Given the description of an element on the screen output the (x, y) to click on. 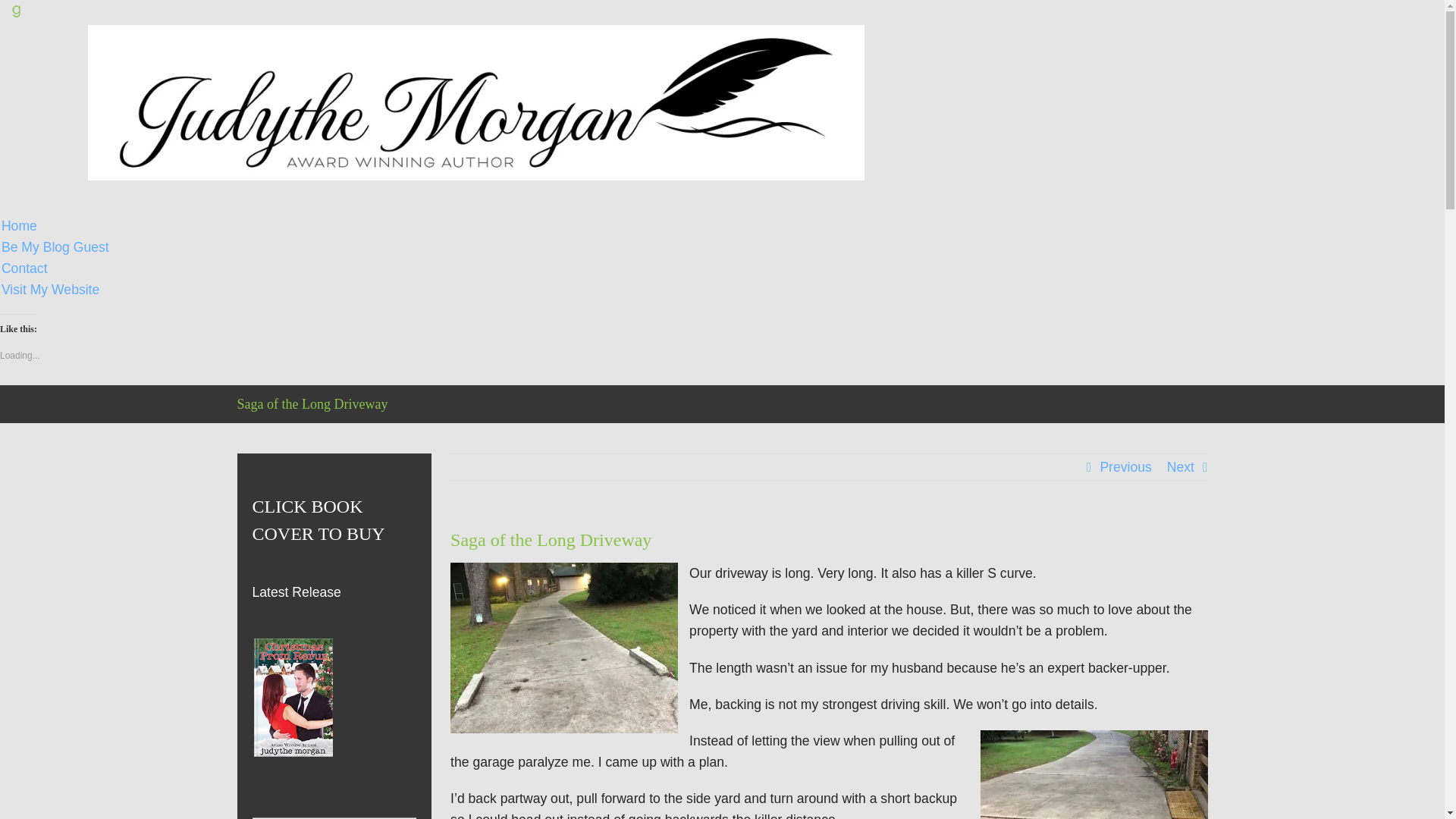
Next (1180, 466)
Home (19, 225)
Previous (1125, 466)
Goodreads (16, 10)
Contact (24, 268)
Be My Blog Guest (55, 246)
Visit My Website (50, 289)
